Given the description of an element on the screen output the (x, y) to click on. 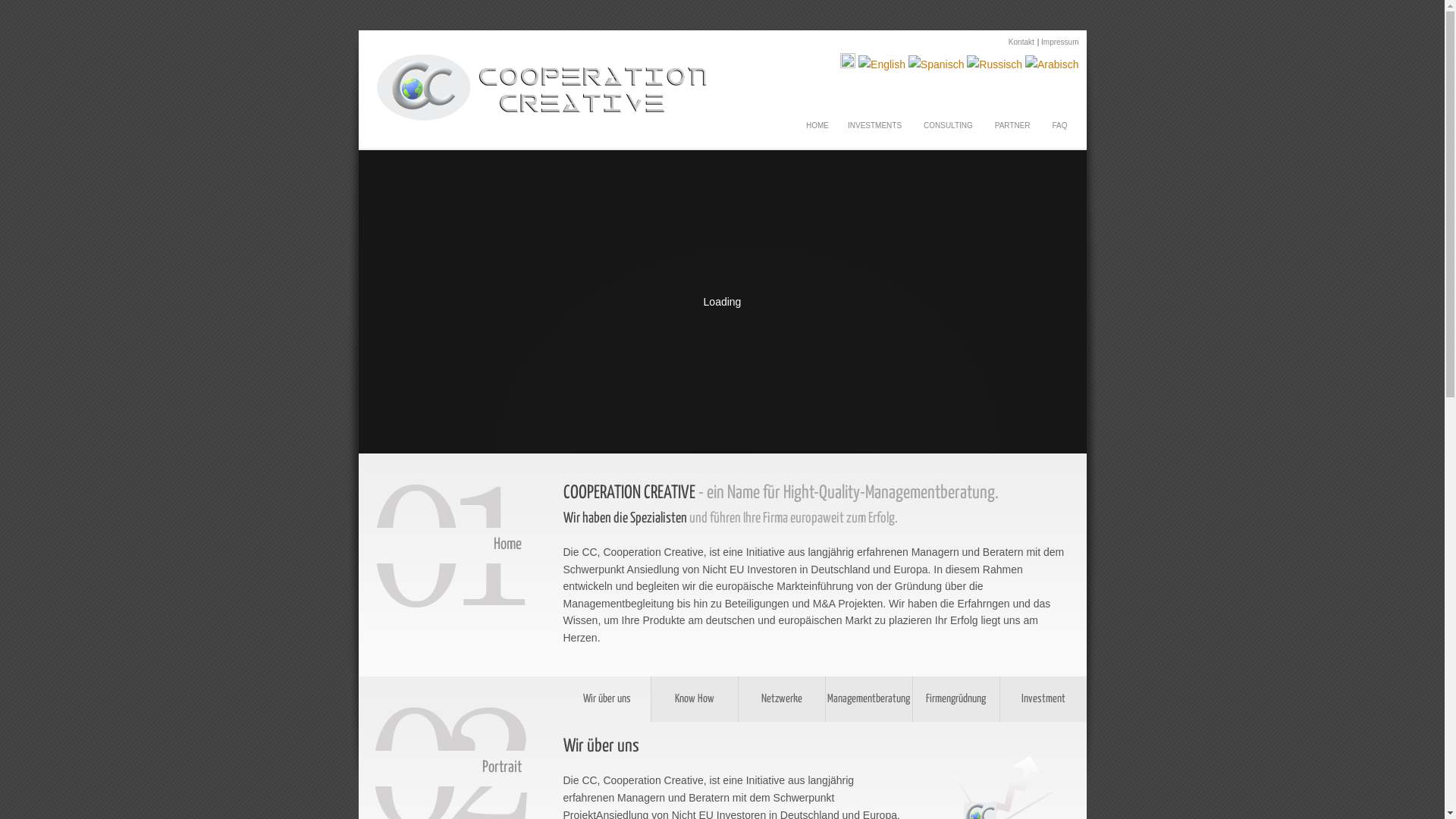
Netzwerke Element type: text (781, 698)
Know How Element type: text (694, 698)
Impressum Element type: text (1059, 41)
German Element type: hover (847, 64)
Kontakt Element type: text (1021, 41)
CC Cooperation Creative Element type: hover (548, 117)
Investment Element type: text (1043, 698)
FAQ Element type: text (1058, 121)
Managementberatung Element type: text (868, 698)
